Given the description of an element on the screen output the (x, y) to click on. 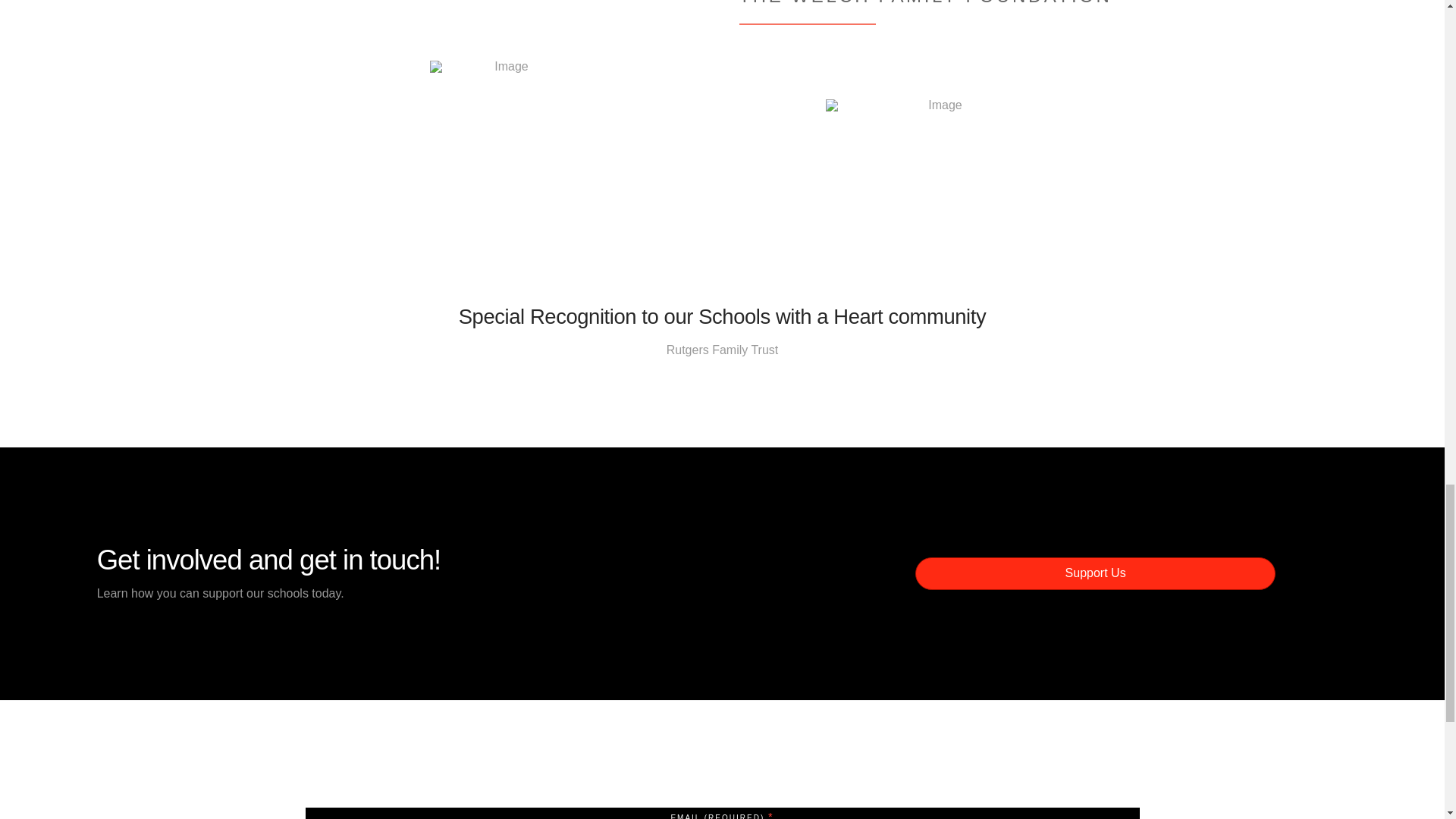
Support Us (1095, 573)
